Given the description of an element on the screen output the (x, y) to click on. 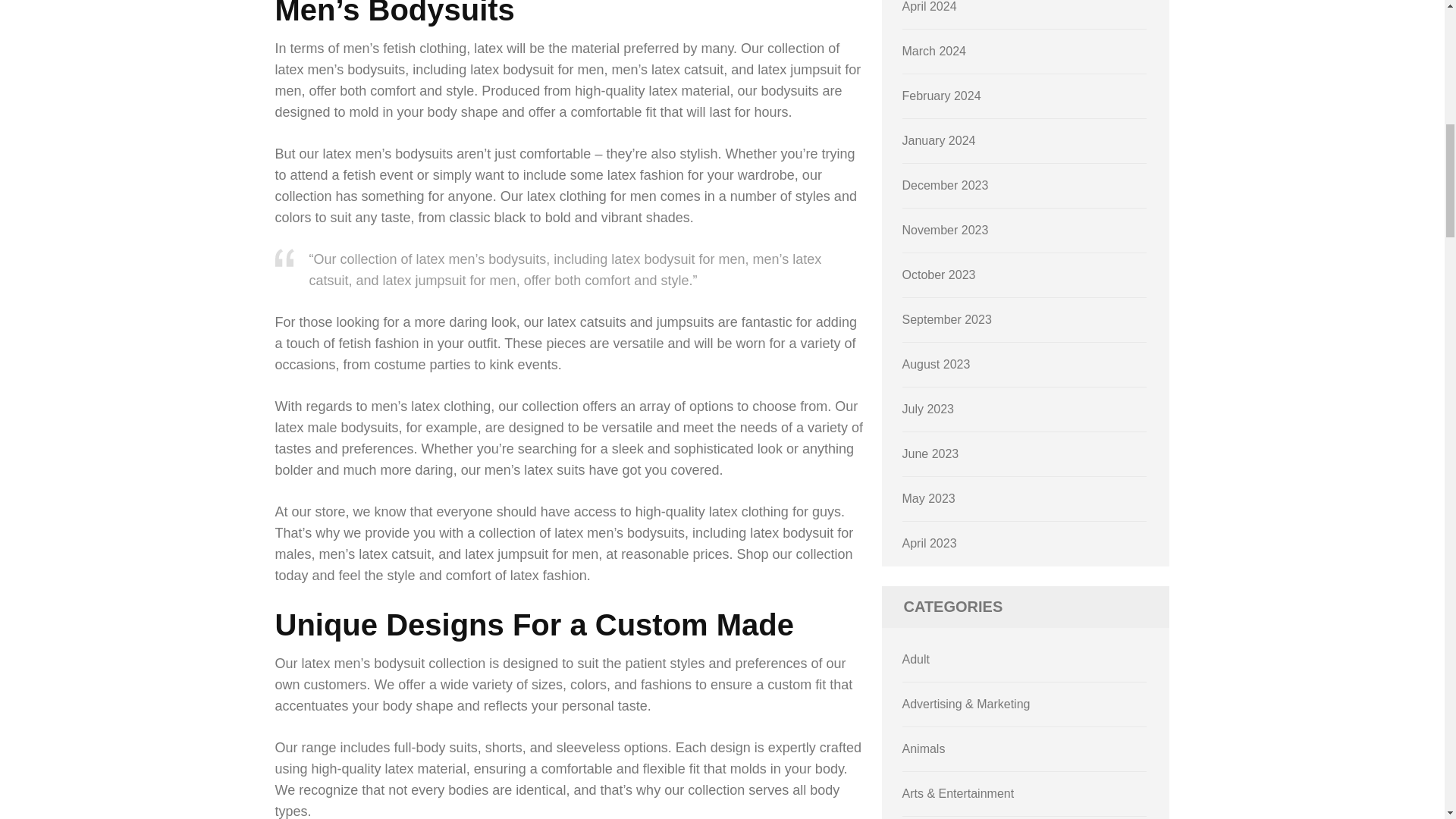
February 2024 (941, 95)
August 2023 (936, 364)
Adult (916, 658)
November 2023 (945, 229)
January 2024 (938, 140)
April 2023 (929, 543)
May 2023 (928, 498)
April 2024 (929, 6)
October 2023 (938, 274)
September 2023 (946, 318)
March 2024 (934, 51)
December 2023 (945, 185)
June 2023 (930, 453)
July 2023 (928, 408)
